Given the description of an element on the screen output the (x, y) to click on. 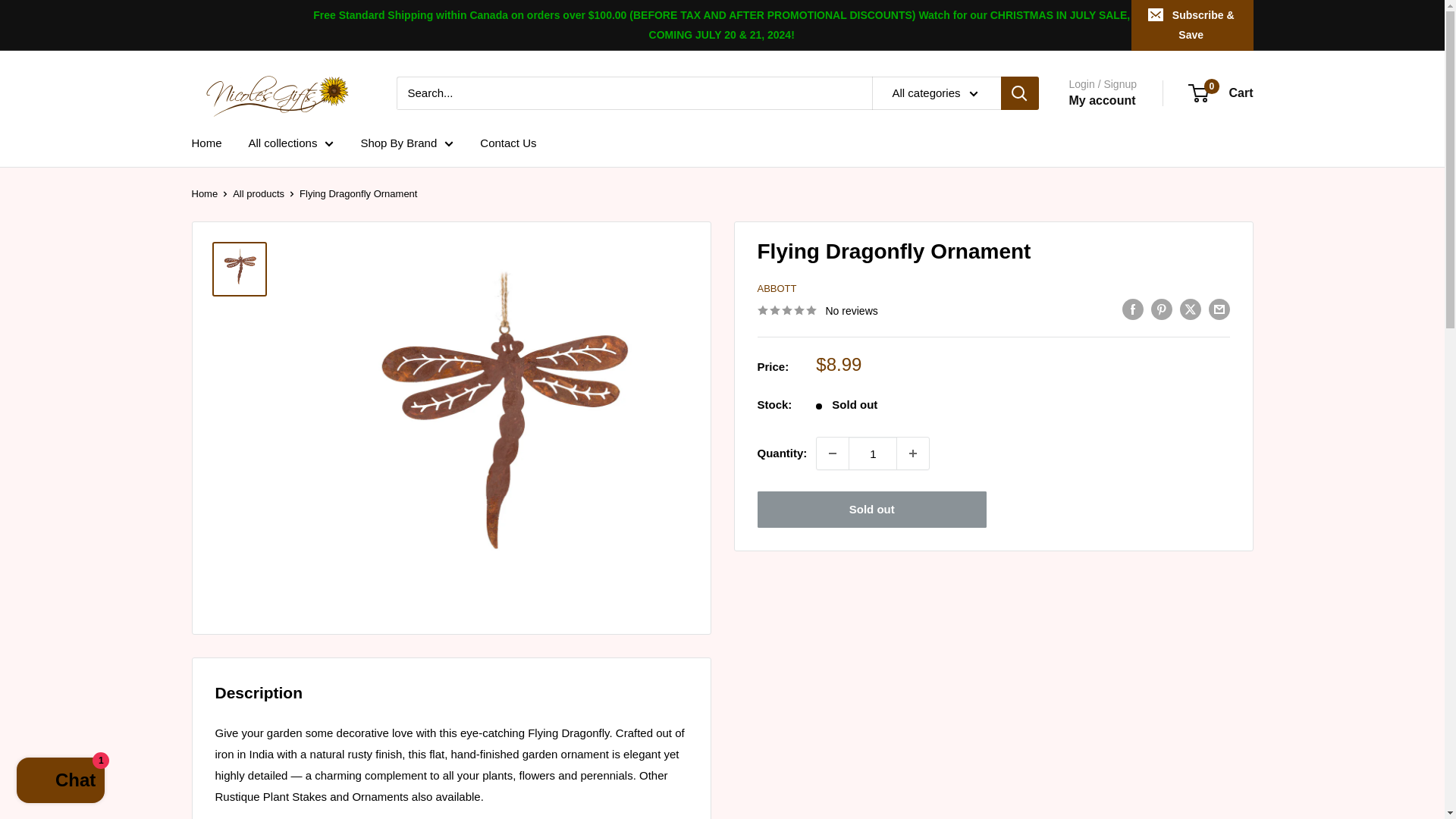
Shopify online store chat (60, 781)
1 (872, 453)
Decrease quantity by 1 (832, 453)
Increase quantity by 1 (912, 453)
